Given the description of an element on the screen output the (x, y) to click on. 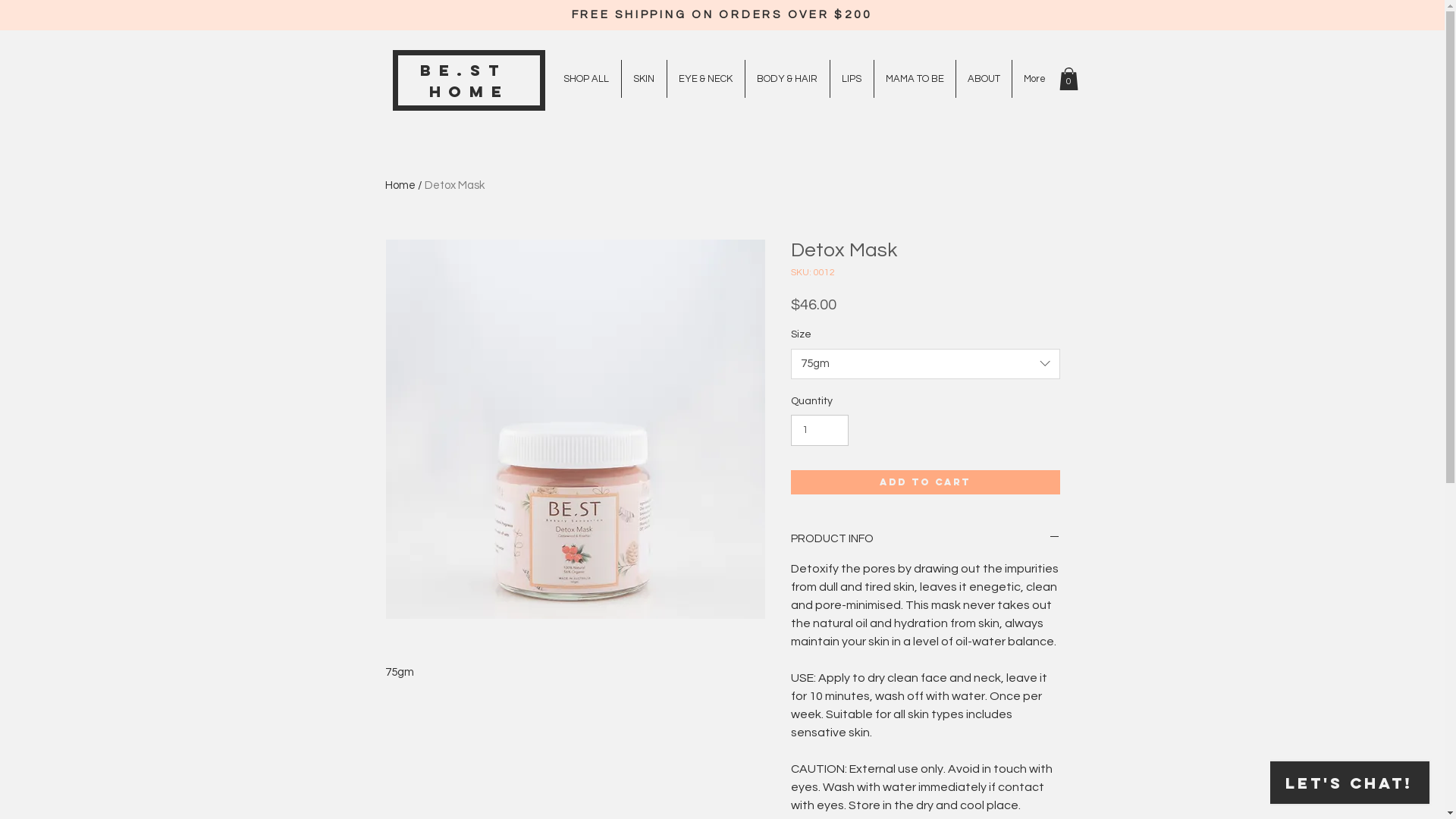
SHOP ALL Element type: text (586, 78)
ABOUT Element type: text (982, 78)
Add to Cart Element type: text (924, 482)
PRODUCT INFO Element type: text (924, 538)
MAMA TO BE Element type: text (913, 78)
Home Element type: text (400, 185)
BE.ST  Element type: text (468, 69)
LIPS Element type: text (850, 78)
BODY & HAIR Element type: text (786, 78)
0 Element type: text (1067, 78)
EYE & NECK Element type: text (705, 78)
SKIN Element type: text (643, 78)
75gm Element type: text (924, 363)
Detox Mask Element type: text (454, 185)
